Given the description of an element on the screen output the (x, y) to click on. 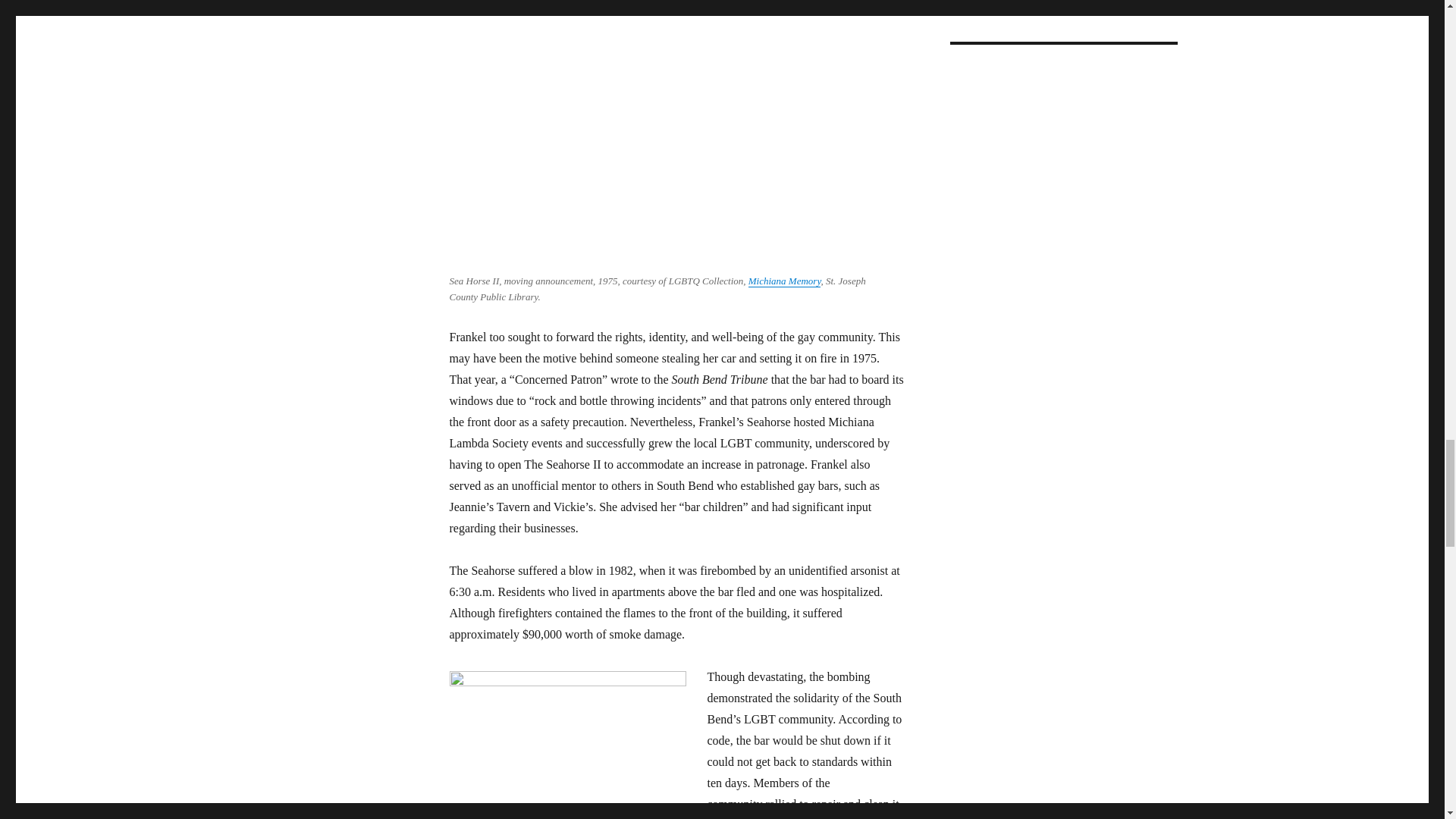
Michiana Memory (784, 280)
